Given the description of an element on the screen output the (x, y) to click on. 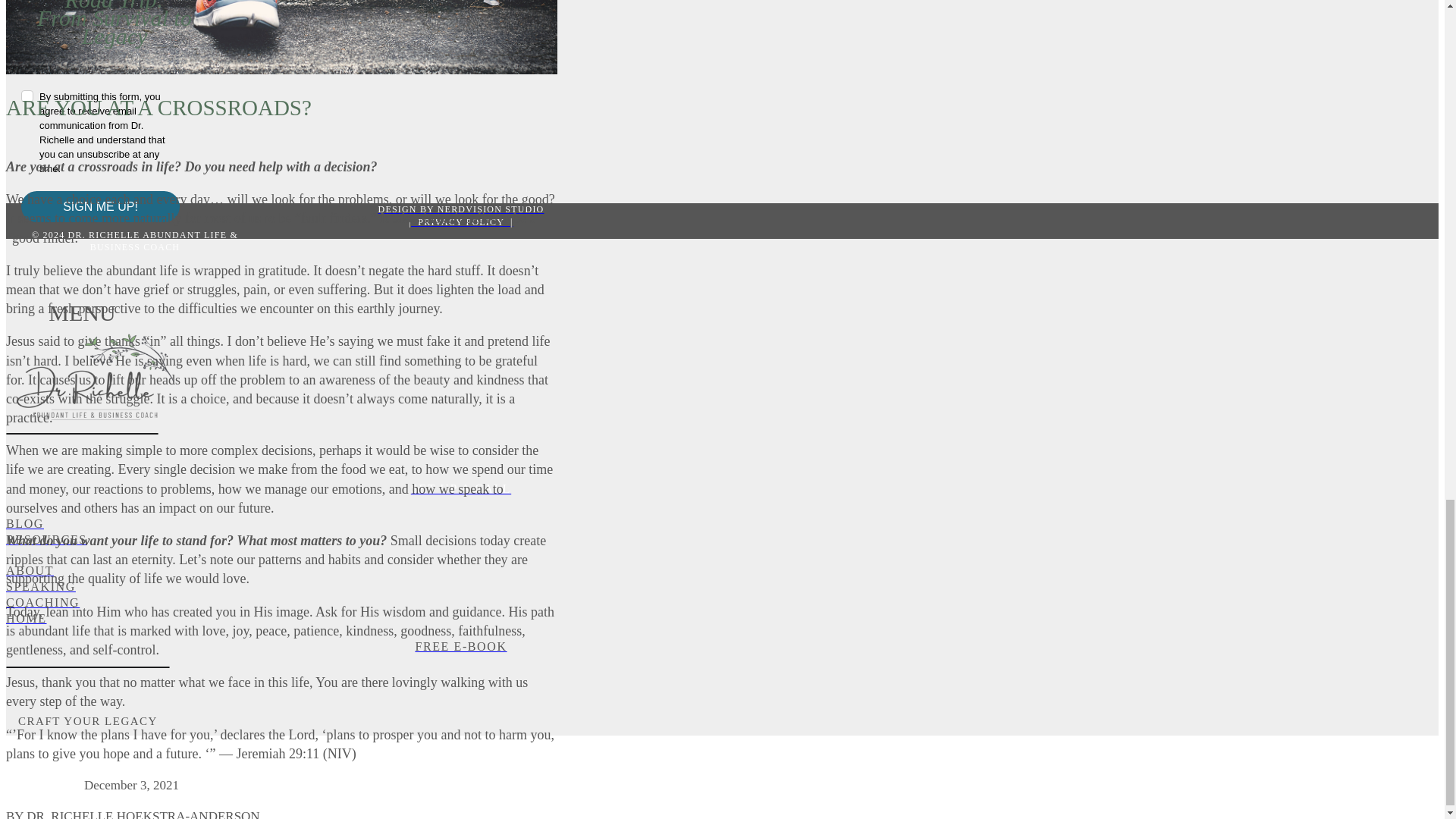
RESOURCES (460, 548)
FREE E-BOOK (460, 647)
BLOG (460, 524)
COACHING (460, 602)
DESIGN BY NERDVISION STUDIO (460, 209)
ABOUT (460, 571)
HOME (460, 618)
SIGN ME UP! (100, 205)
SPEAKING (460, 587)
SET UP A CALL (460, 489)
